Given the description of an element on the screen output the (x, y) to click on. 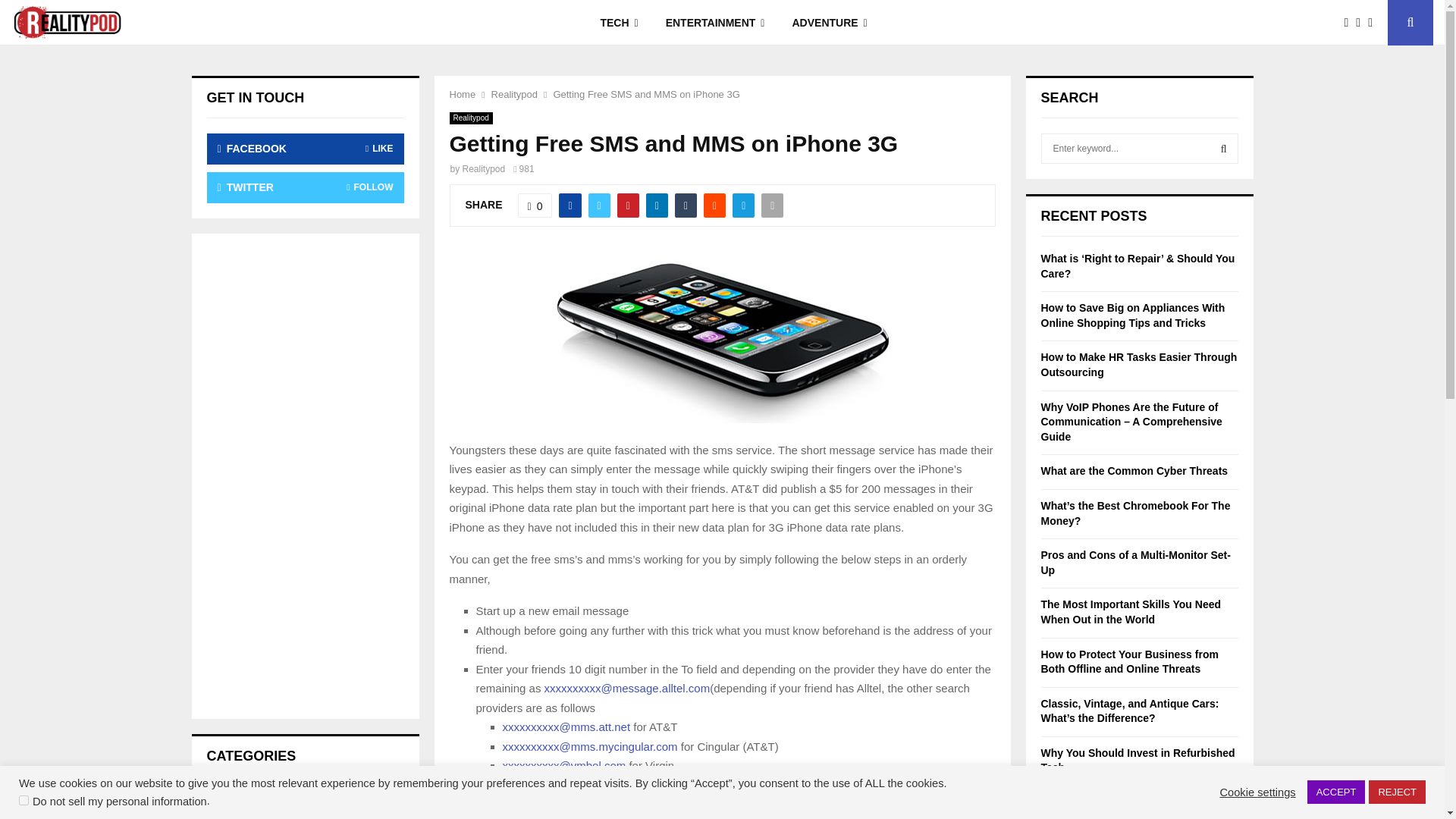
0 (535, 205)
Home (462, 93)
Getting Free SMS and MMS on iPhone 3G (646, 93)
Email (1374, 22)
ENTERTAINMENT (715, 22)
TECH (618, 22)
Facebook (1349, 22)
Twitter (1361, 22)
Like (535, 205)
on (23, 800)
Realitypod (514, 93)
Realitypod (470, 118)
Realitypod (484, 168)
ADVENTURE (828, 22)
